Given the description of an element on the screen output the (x, y) to click on. 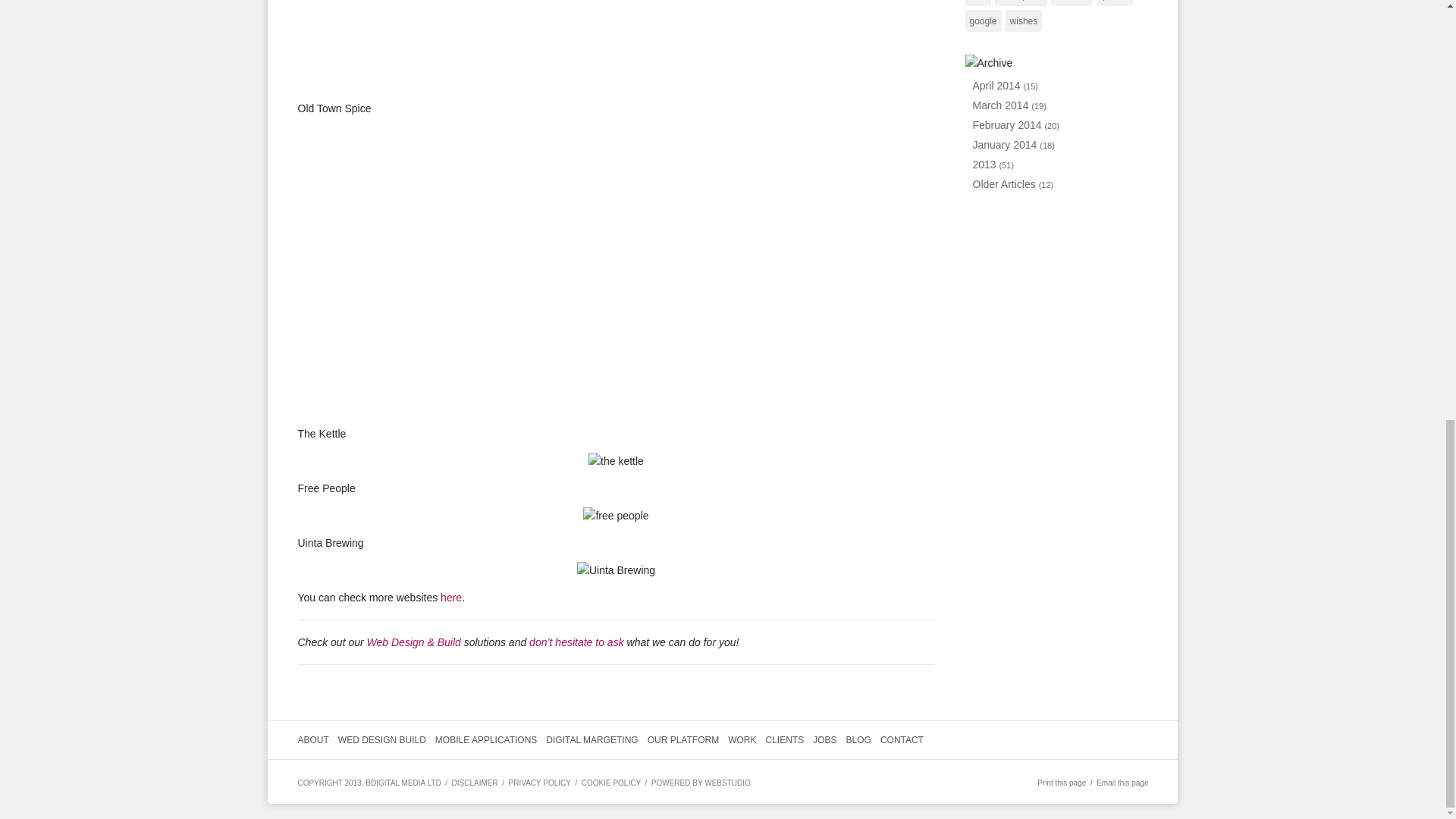
Archive (987, 62)
here (451, 597)
